Given the description of an element on the screen output the (x, y) to click on. 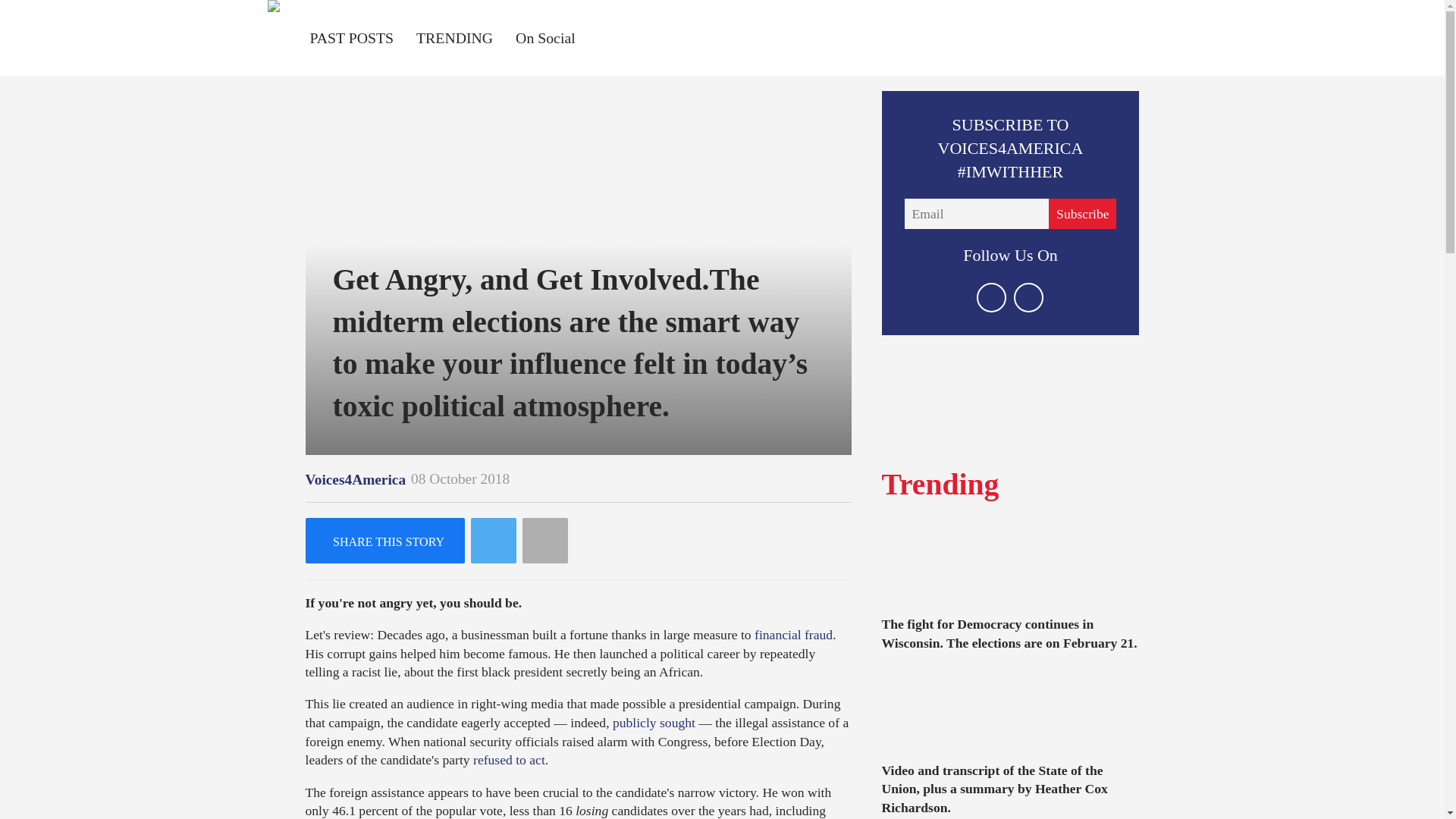
financial fraud (793, 634)
TRENDING (454, 38)
Voices4America (355, 479)
publicly sought (653, 722)
PAST POSTS (350, 38)
refused to act (508, 759)
